Given the description of an element on the screen output the (x, y) to click on. 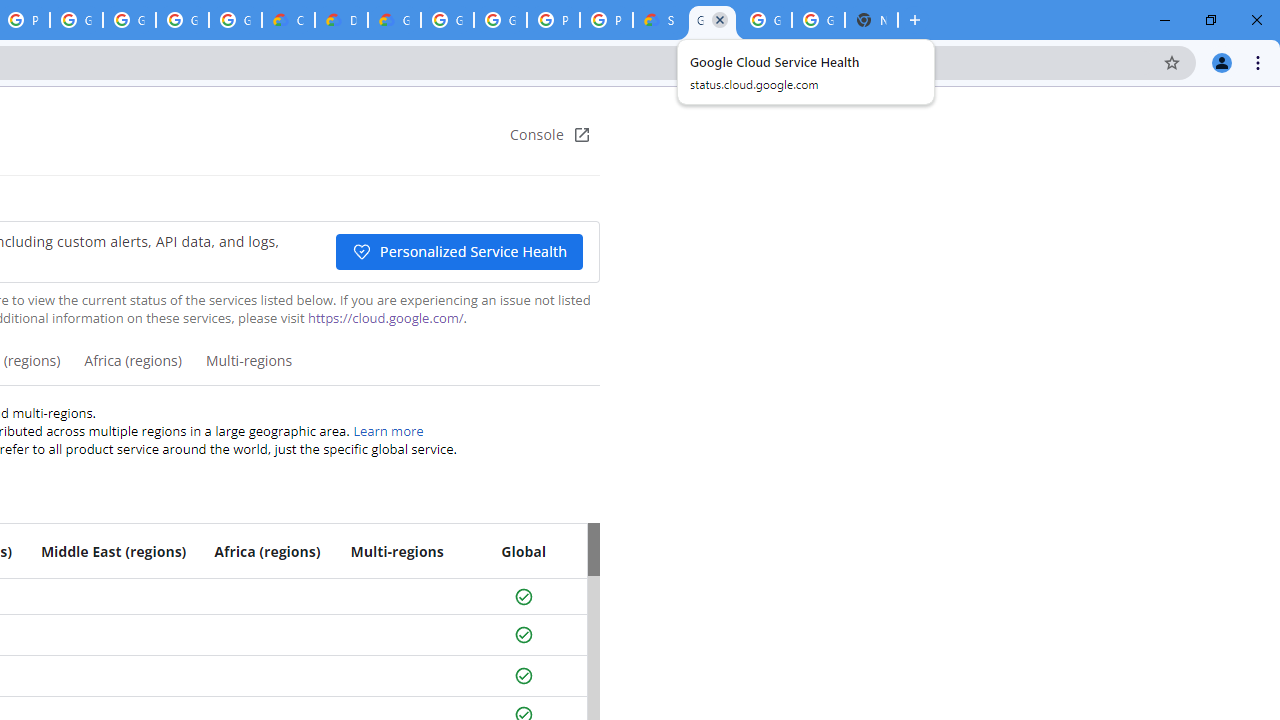
Console (550, 134)
Google Cloud Platform (765, 20)
Learn more (388, 430)
Google Cloud Platform (818, 20)
Google Cloud Platform (500, 20)
Google Cloud Service Health (712, 20)
Personalized Service Health (458, 252)
